Given the description of an element on the screen output the (x, y) to click on. 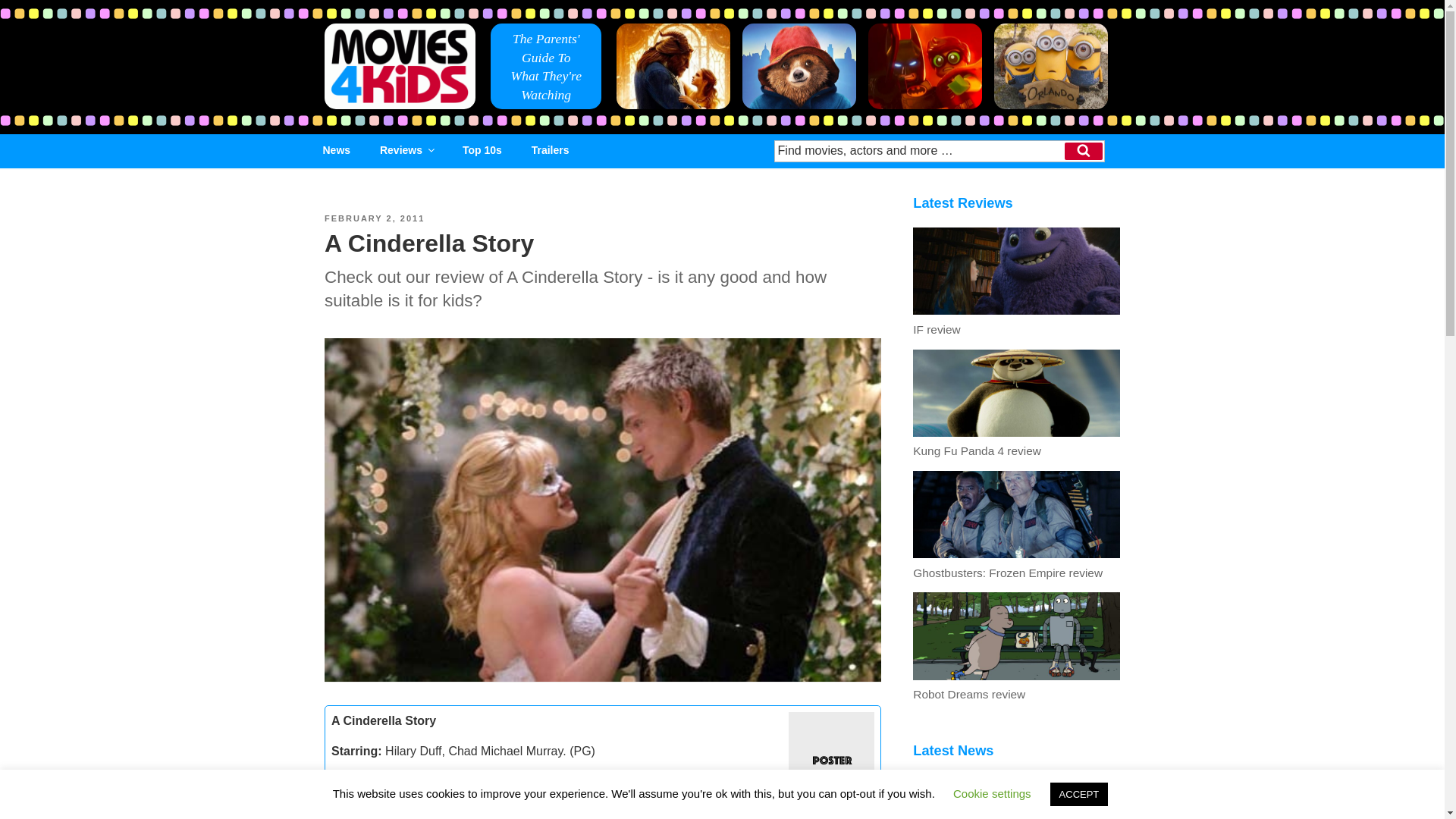
Kung Fu Panda 4 review (1015, 443)
Top 10s (481, 150)
Reviews (405, 150)
Robot Dreams review (1015, 686)
Search (1083, 150)
News (336, 150)
IF review (1015, 321)
FEBRUARY 2, 2011 (374, 217)
Ghostbusters: Frozen Empire review (1015, 564)
Trailers (550, 150)
